Given the description of an element on the screen output the (x, y) to click on. 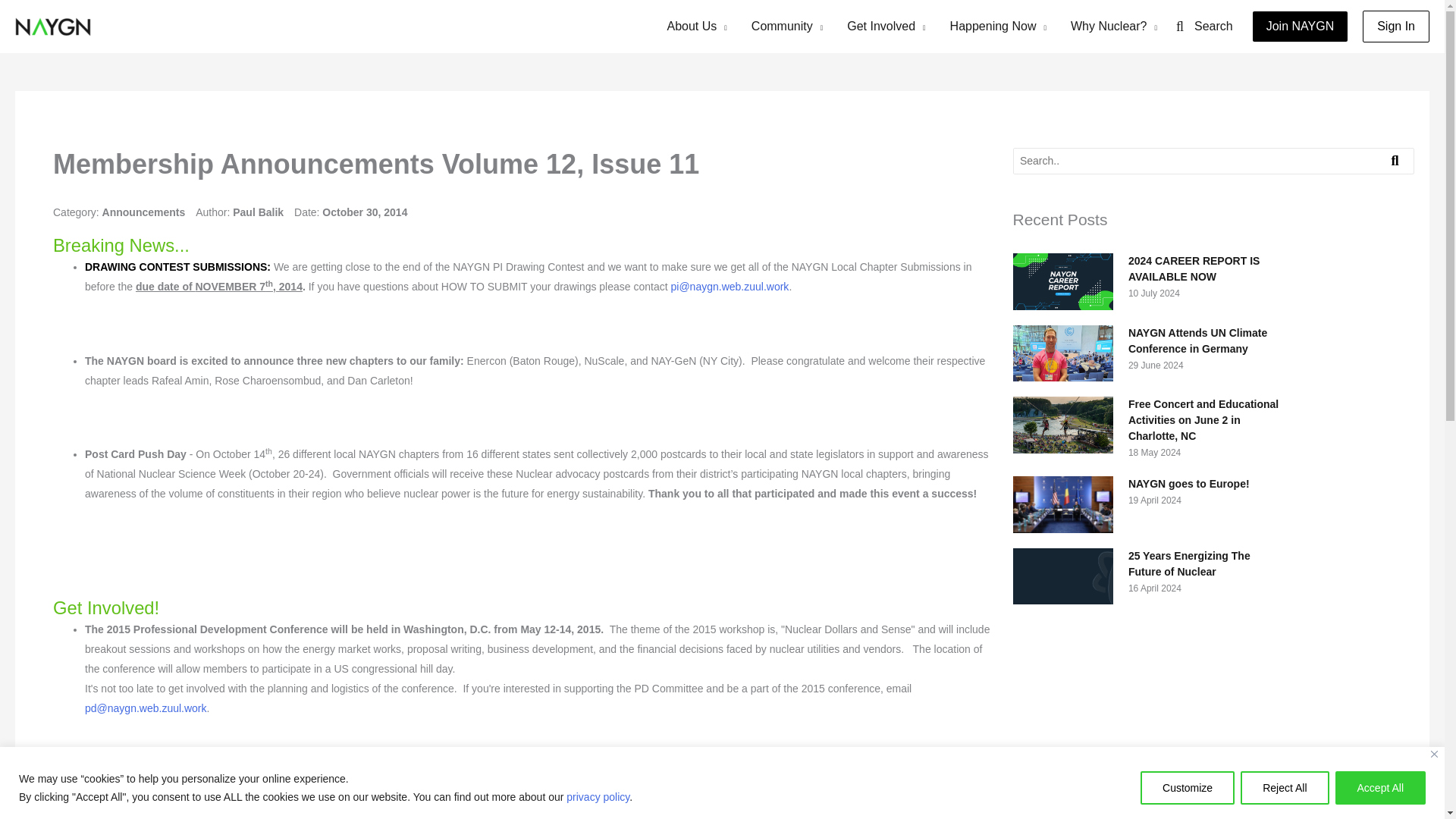
Community (786, 26)
Why Nuclear? (1113, 26)
Accept All (1380, 786)
About Us (697, 26)
Happening Now (997, 26)
Get Involved (885, 26)
privacy policy (597, 796)
Reject All (1283, 786)
Customize (1187, 786)
